Given the description of an element on the screen output the (x, y) to click on. 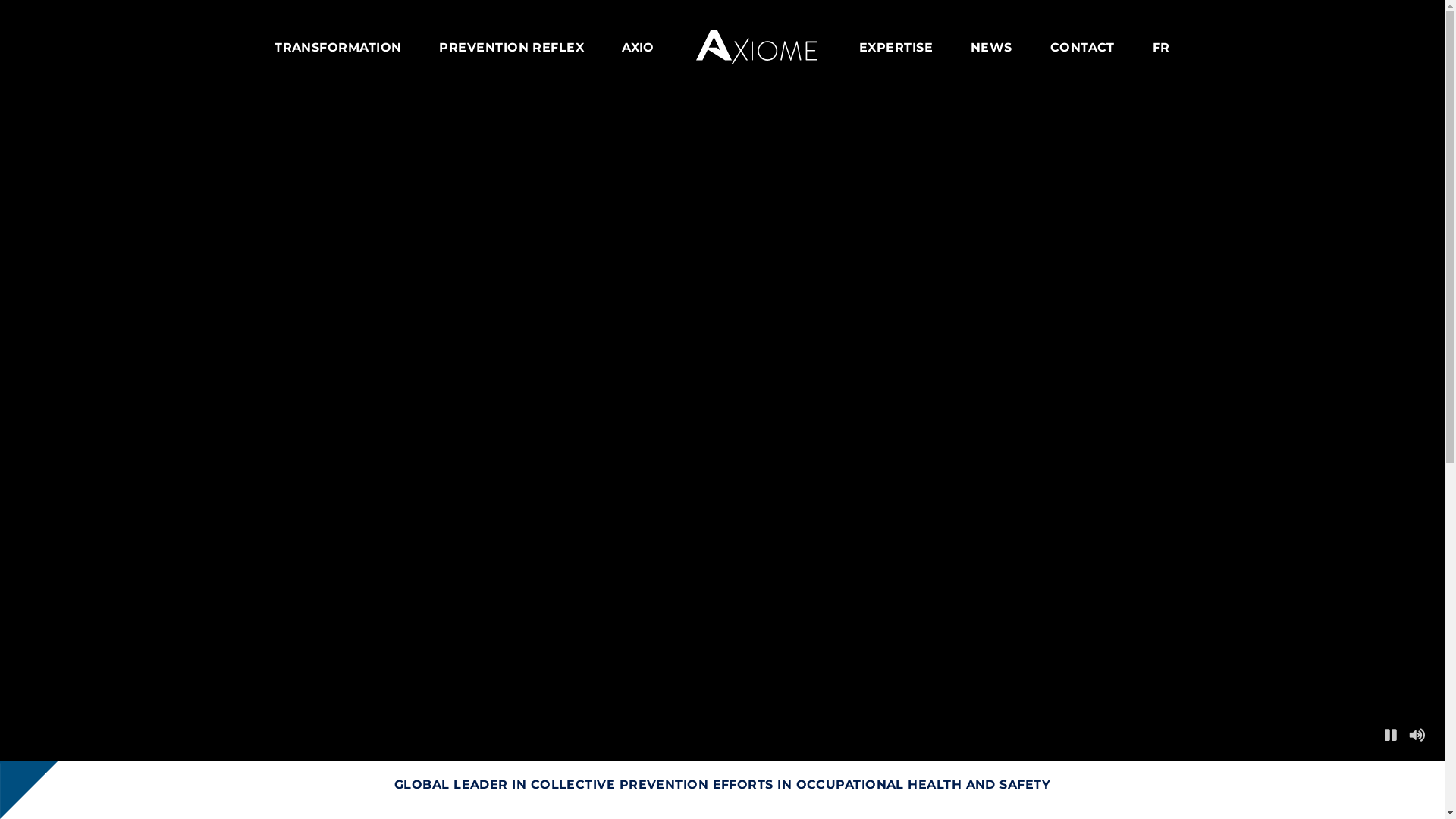
FR Element type: text (1161, 47)
EXPERTISE Element type: text (895, 47)
AXIO Element type: text (637, 47)
TRANSFORMATION Element type: text (337, 47)
PREVENTION REFLEX Element type: text (511, 47)
Axiome Element type: hover (756, 47)
NEWS Element type: text (991, 47)
CONTACT Element type: text (1082, 47)
